Given the description of an element on the screen output the (x, y) to click on. 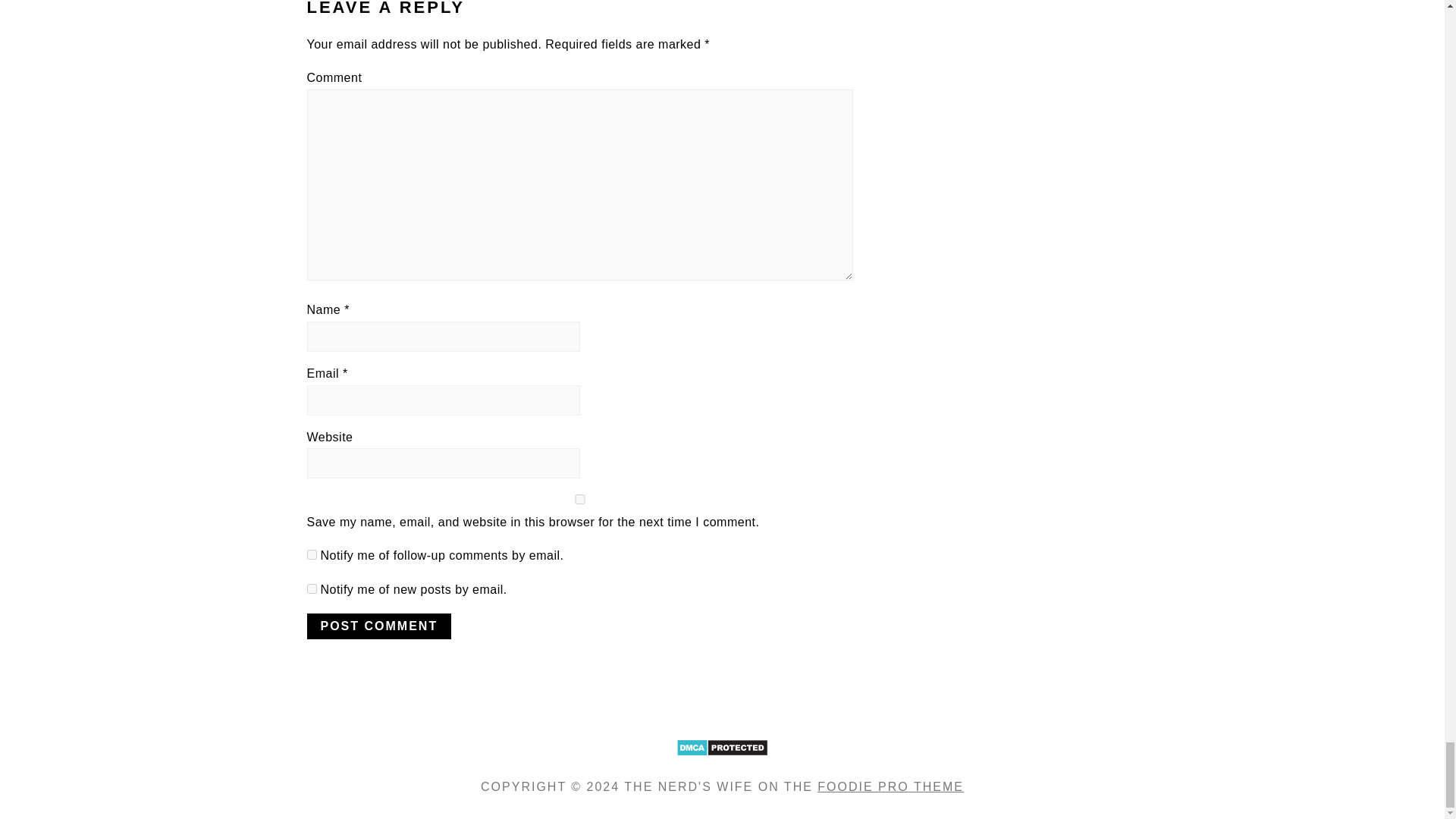
subscribe (310, 588)
subscribe (310, 554)
Post Comment (378, 626)
yes (578, 499)
